Given the description of an element on the screen output the (x, y) to click on. 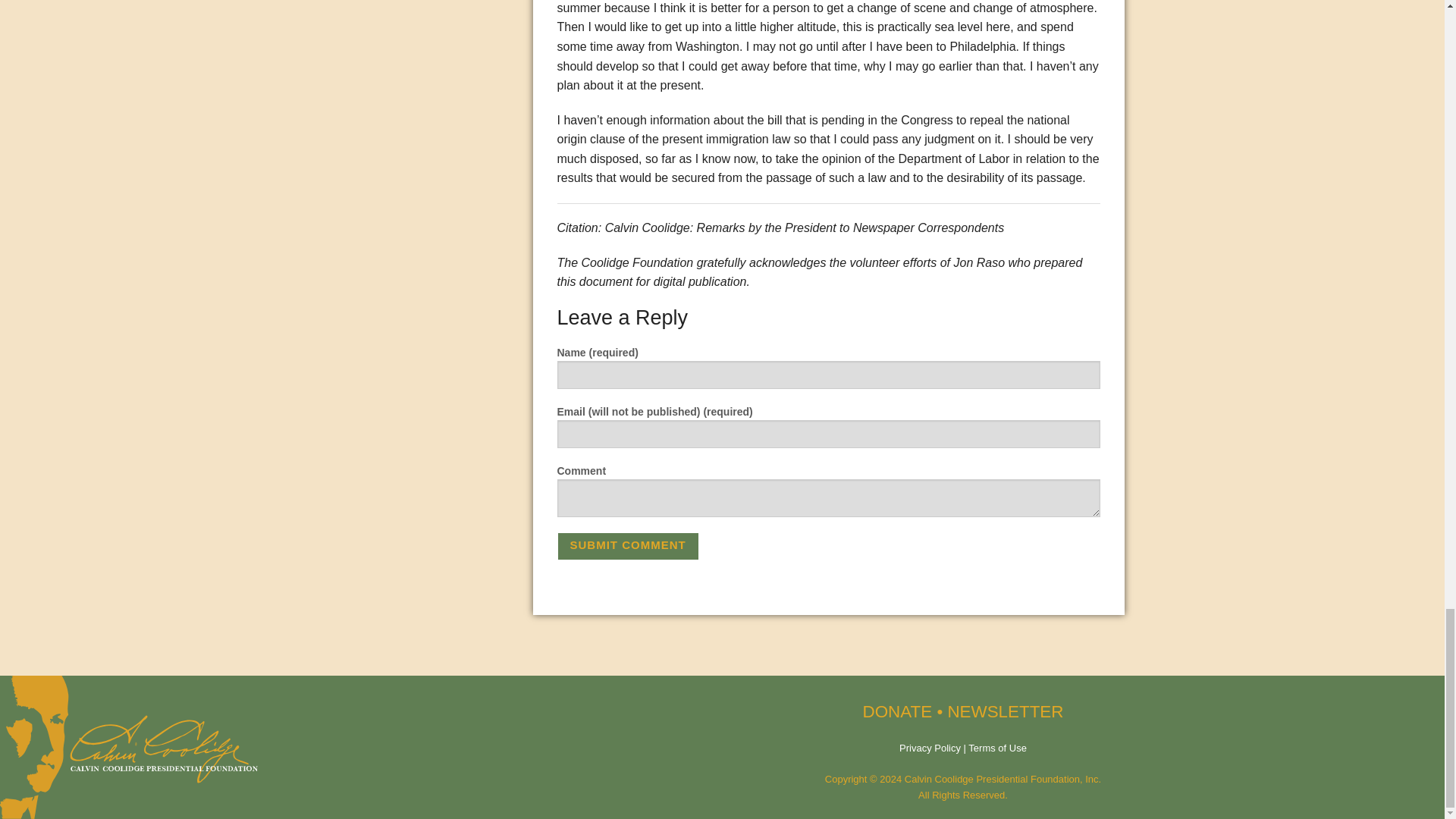
Submit Comment (627, 546)
Privacy Policy (929, 747)
Submit Comment (627, 546)
NEWSLETTER (1004, 711)
Terms of Use (997, 747)
